Given the description of an element on the screen output the (x, y) to click on. 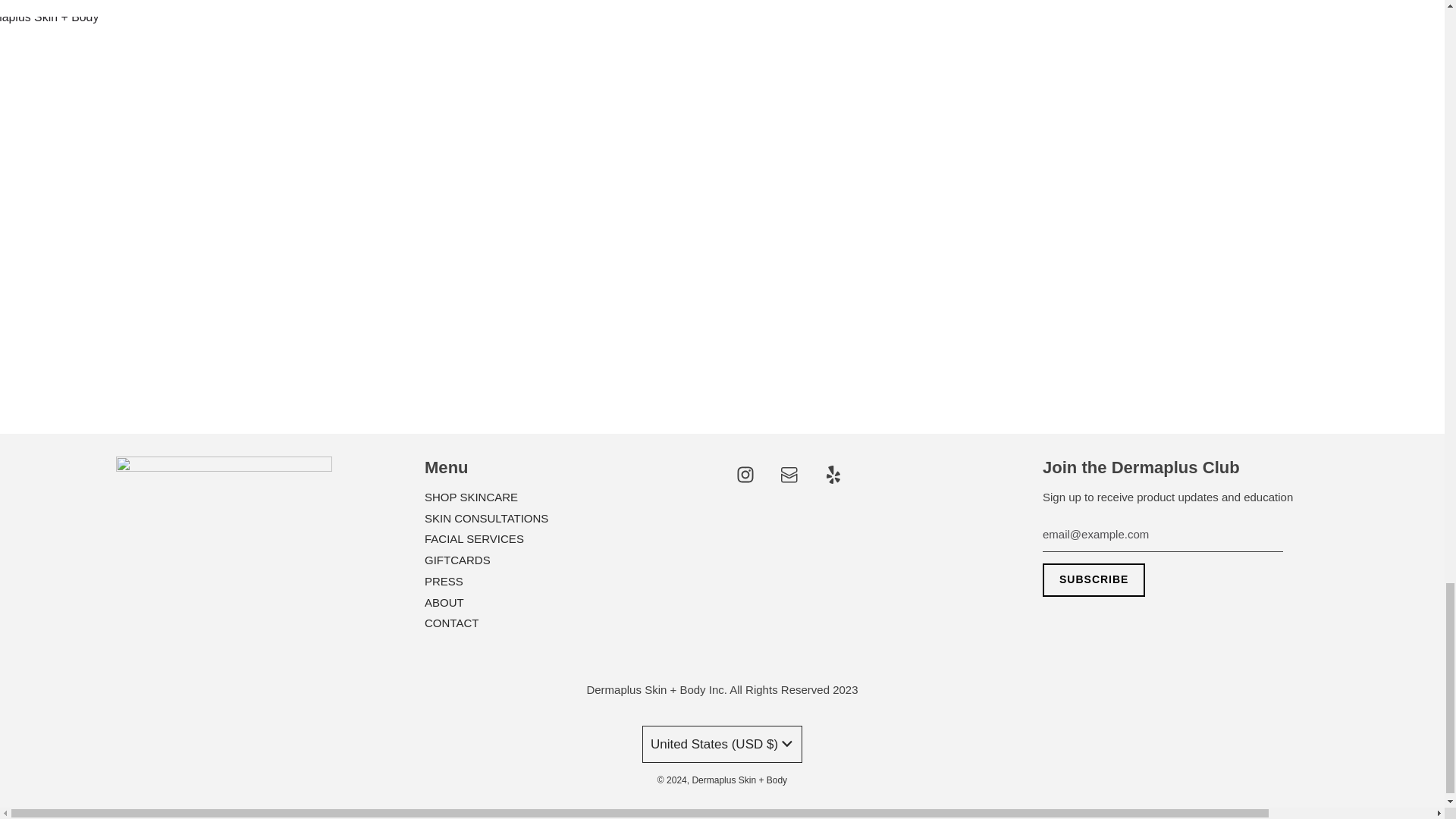
Subscribe (1093, 580)
